Given the description of an element on the screen output the (x, y) to click on. 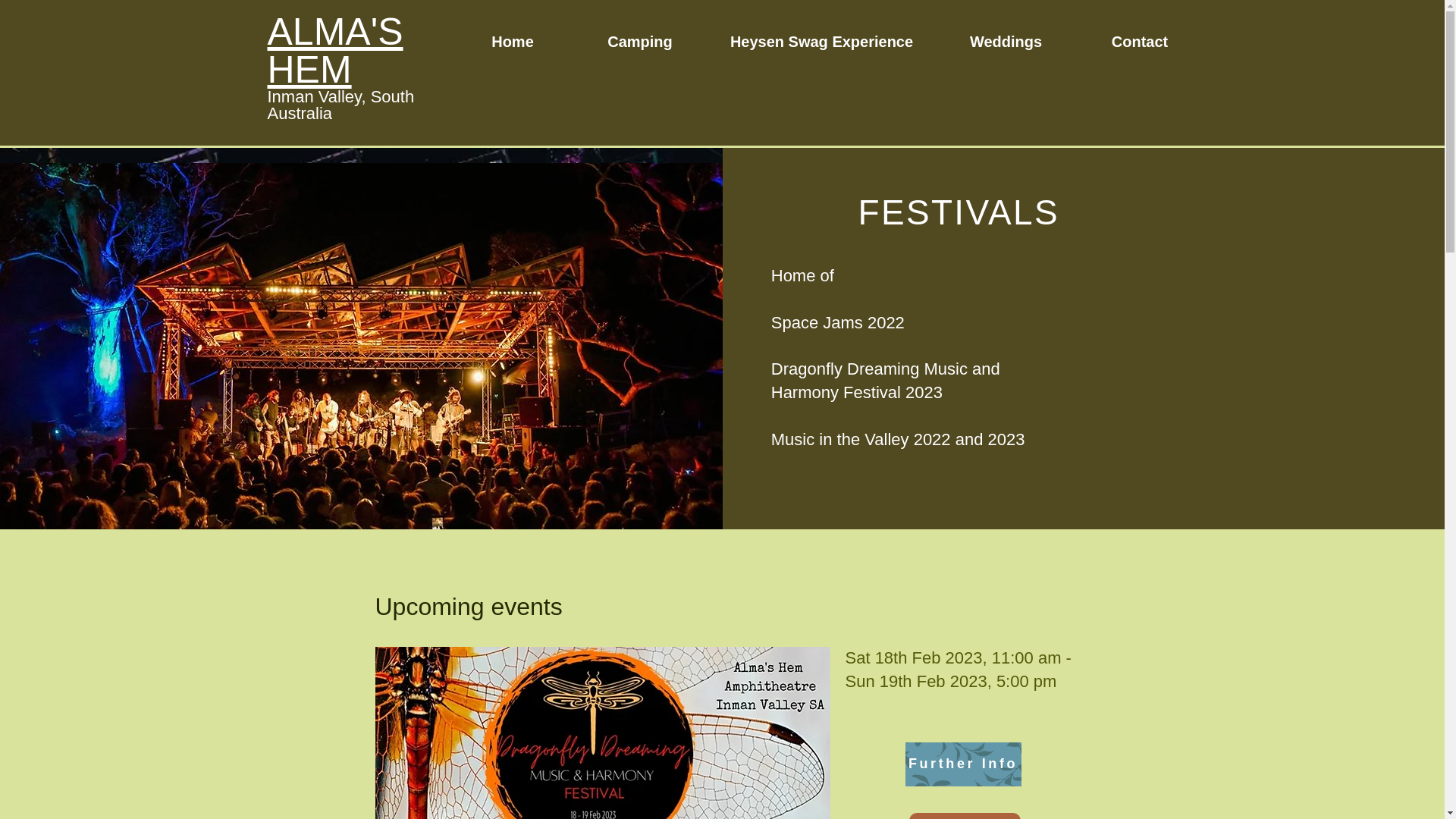
Tickets (964, 816)
Camping (639, 41)
Further Info (963, 764)
Image.webp (601, 733)
Home (512, 41)
ALMA'S HEM (334, 50)
Heysen Swag Experience (821, 41)
Weddings (1006, 41)
Contact (1140, 41)
